Given the description of an element on the screen output the (x, y) to click on. 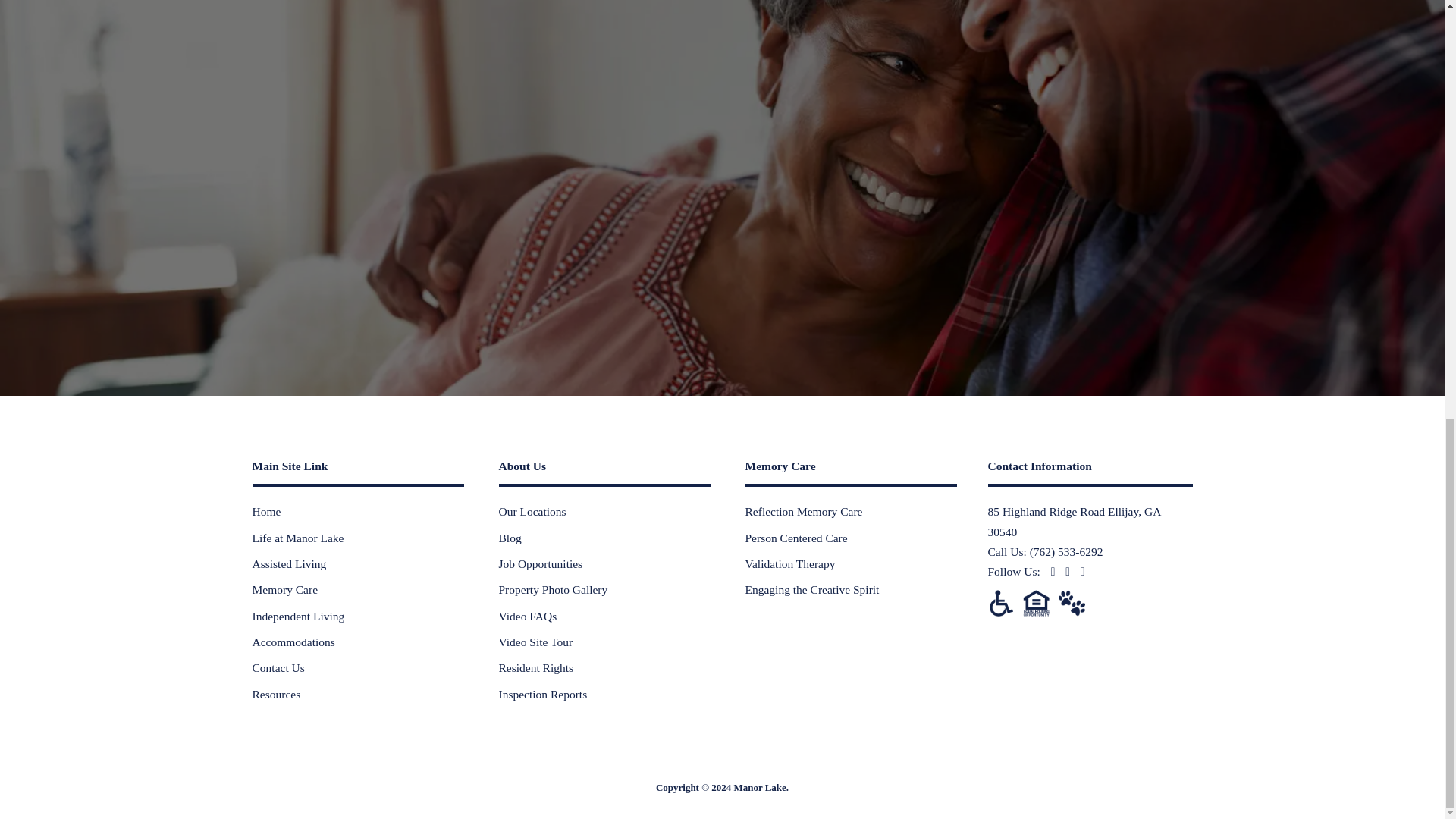
Pet Friendly (1071, 602)
Americans with Disabilities Act (1000, 602)
Equal Housing Opportunity (1036, 602)
